Given the description of an element on the screen output the (x, y) to click on. 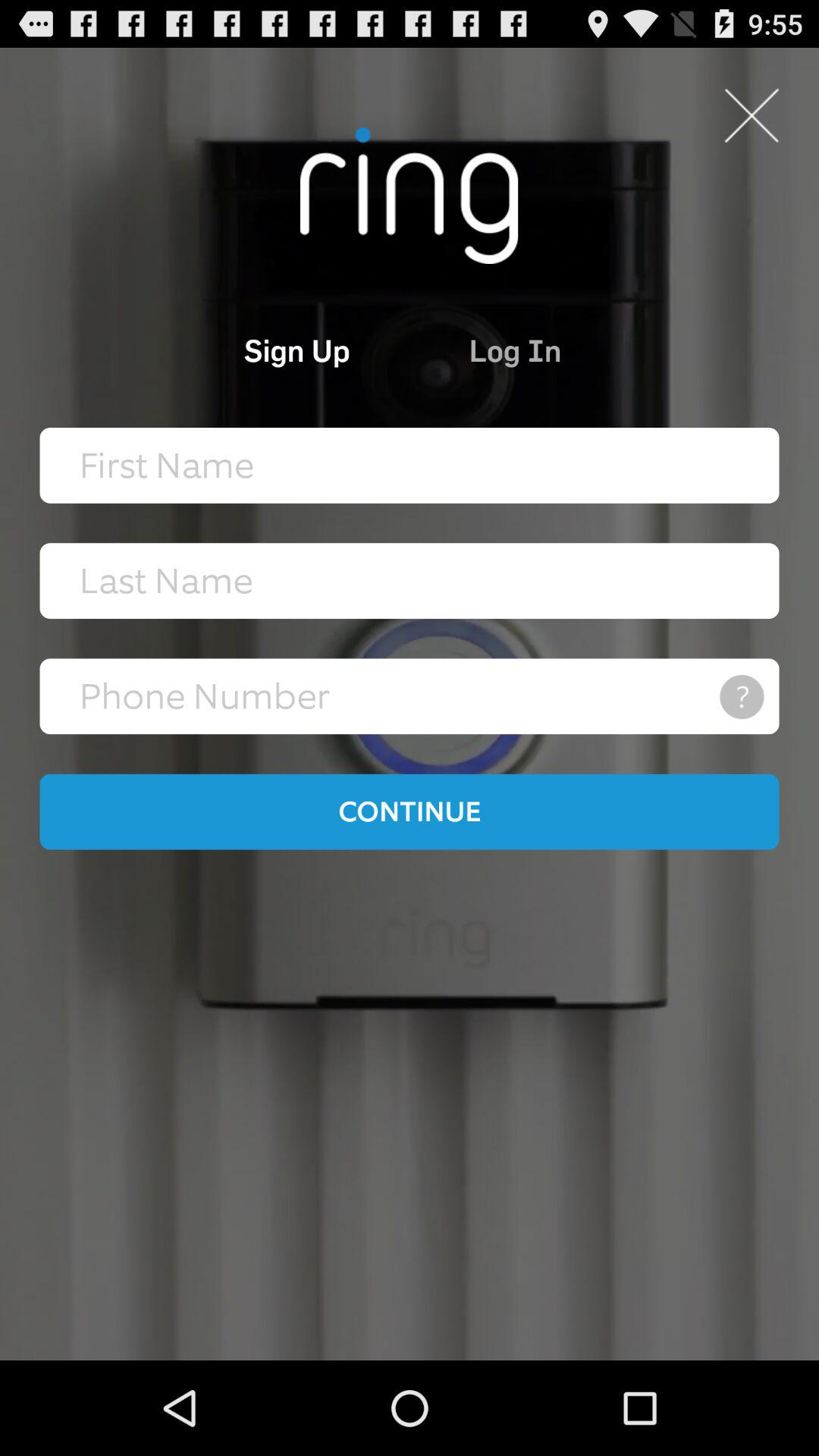
open the sign up item (234, 349)
